Given the description of an element on the screen output the (x, y) to click on. 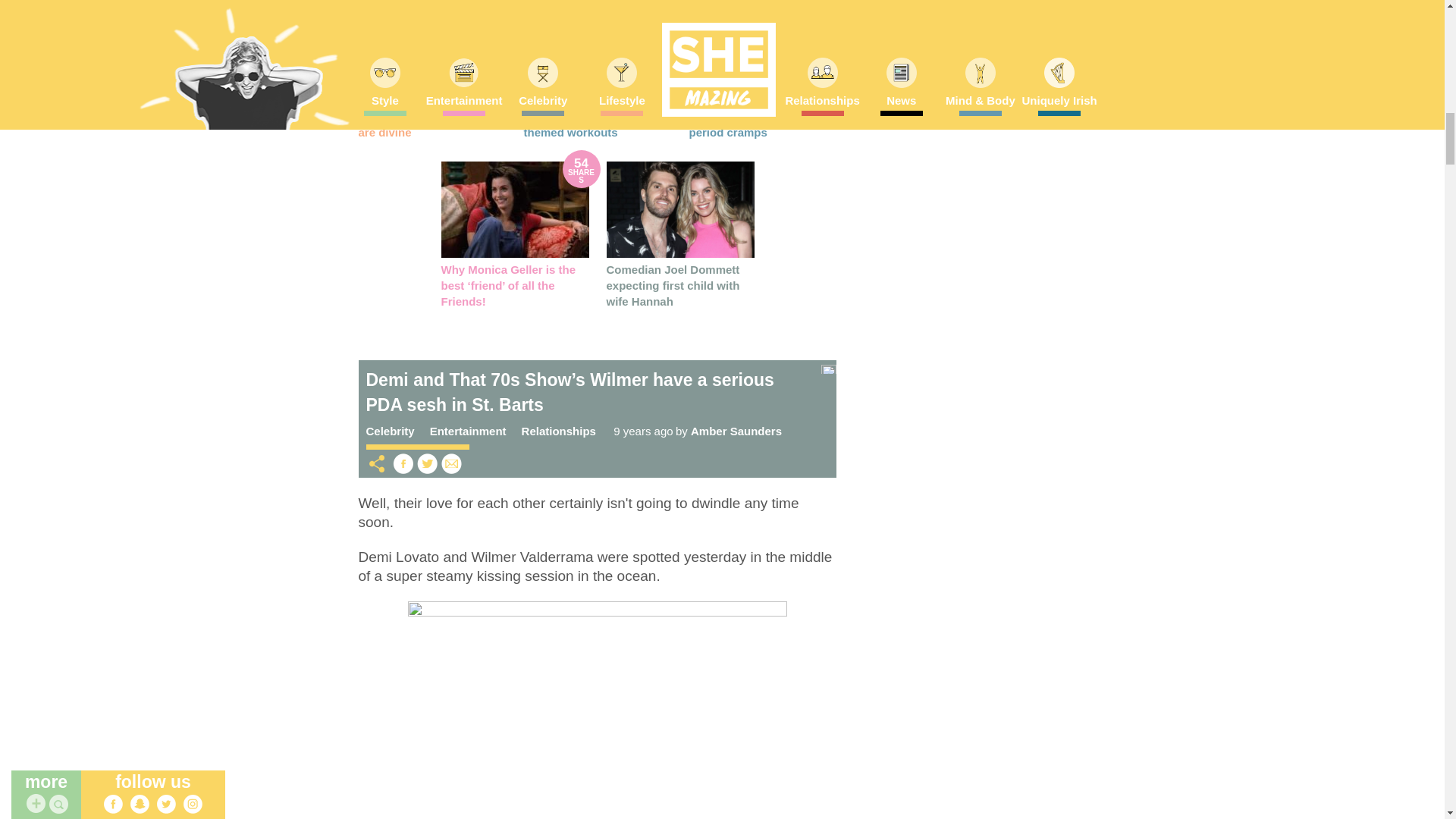
Midweek Meal: These slow-cooked pork chops are divine (425, 116)
Midweek Meal: These slow-cooked pork chops are divine (431, 44)
Comedian Joel Dommett expecting first child with wife Hannah (680, 208)
Comedian Joel Dommett expecting first child with wife Hannah (673, 284)
